Given the description of an element on the screen output the (x, y) to click on. 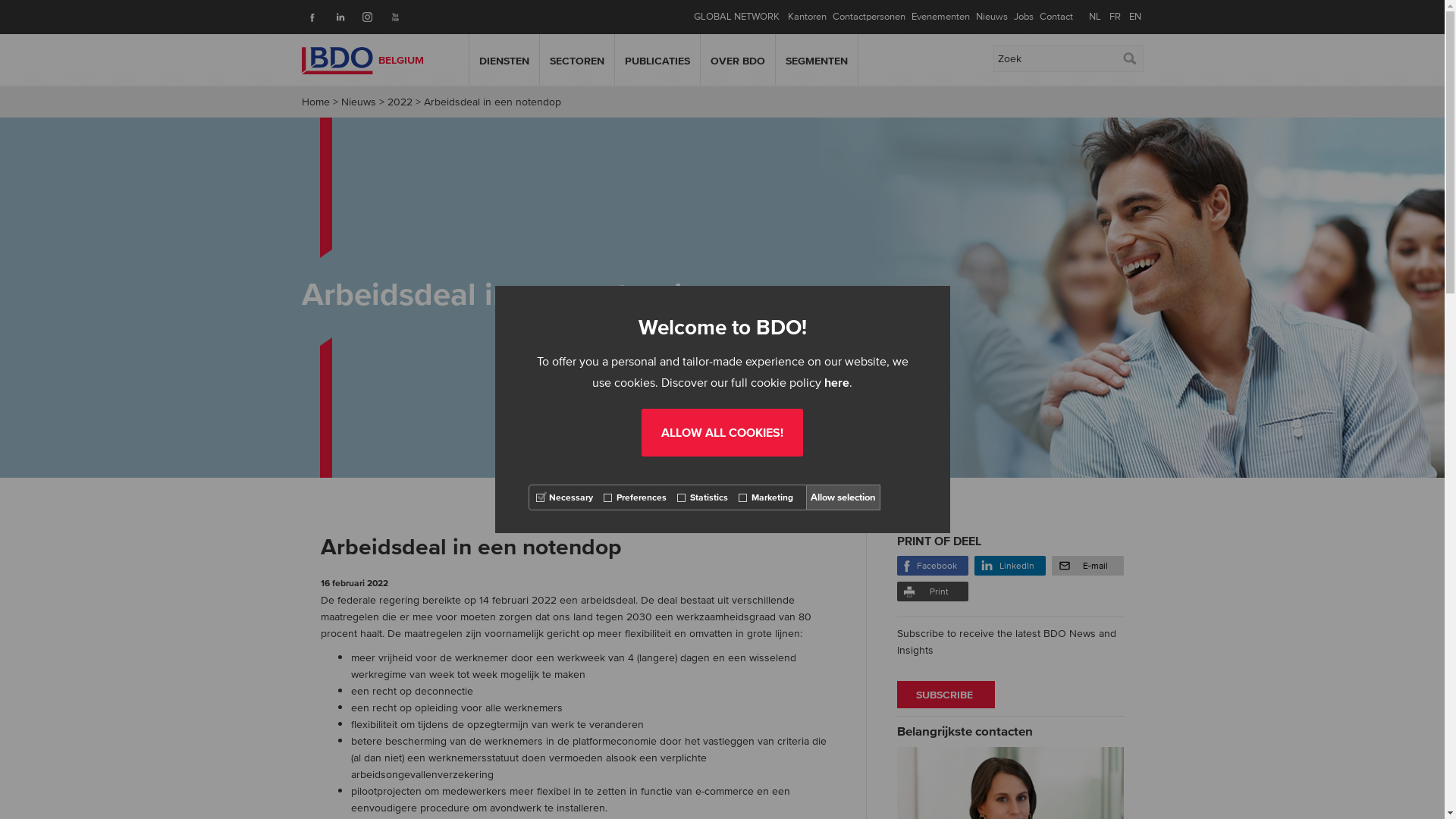
2022 Element type: text (398, 101)
SEGMENTEN Element type: text (816, 61)
Kantoren Element type: text (806, 16)
DIENSTEN Element type: text (504, 61)
Print Element type: text (931, 591)
Allow selection Element type: text (842, 497)
SECTOREN Element type: text (576, 61)
Jobs Element type: text (1022, 16)
Home Element type: text (315, 101)
youtube Element type: hover (391, 12)
linkedin Element type: hover (335, 12)
GLOBAL NETWORK Element type: text (735, 16)
Contactpersonen Element type: text (868, 16)
facebook Element type: hover (307, 12)
Contact Element type: text (1055, 16)
Search Element type: text (1128, 58)
PUBLICATIES Element type: text (657, 61)
EN Element type: text (1134, 16)
Nieuws Element type: text (991, 16)
ALLOW ALL COOKIES! Element type: text (722, 432)
Nieuws Element type: text (358, 101)
Evenementen Element type: text (940, 16)
OVER BDO Element type: text (736, 61)
instagram Element type: hover (363, 12)
Facebook Element type: text (931, 565)
SUBSCRIBE Element type: text (945, 694)
here Element type: text (836, 382)
E-mail Element type: text (1087, 565)
FR Element type: text (1114, 16)
LinkedIn Element type: text (1009, 565)
